Given the description of an element on the screen output the (x, y) to click on. 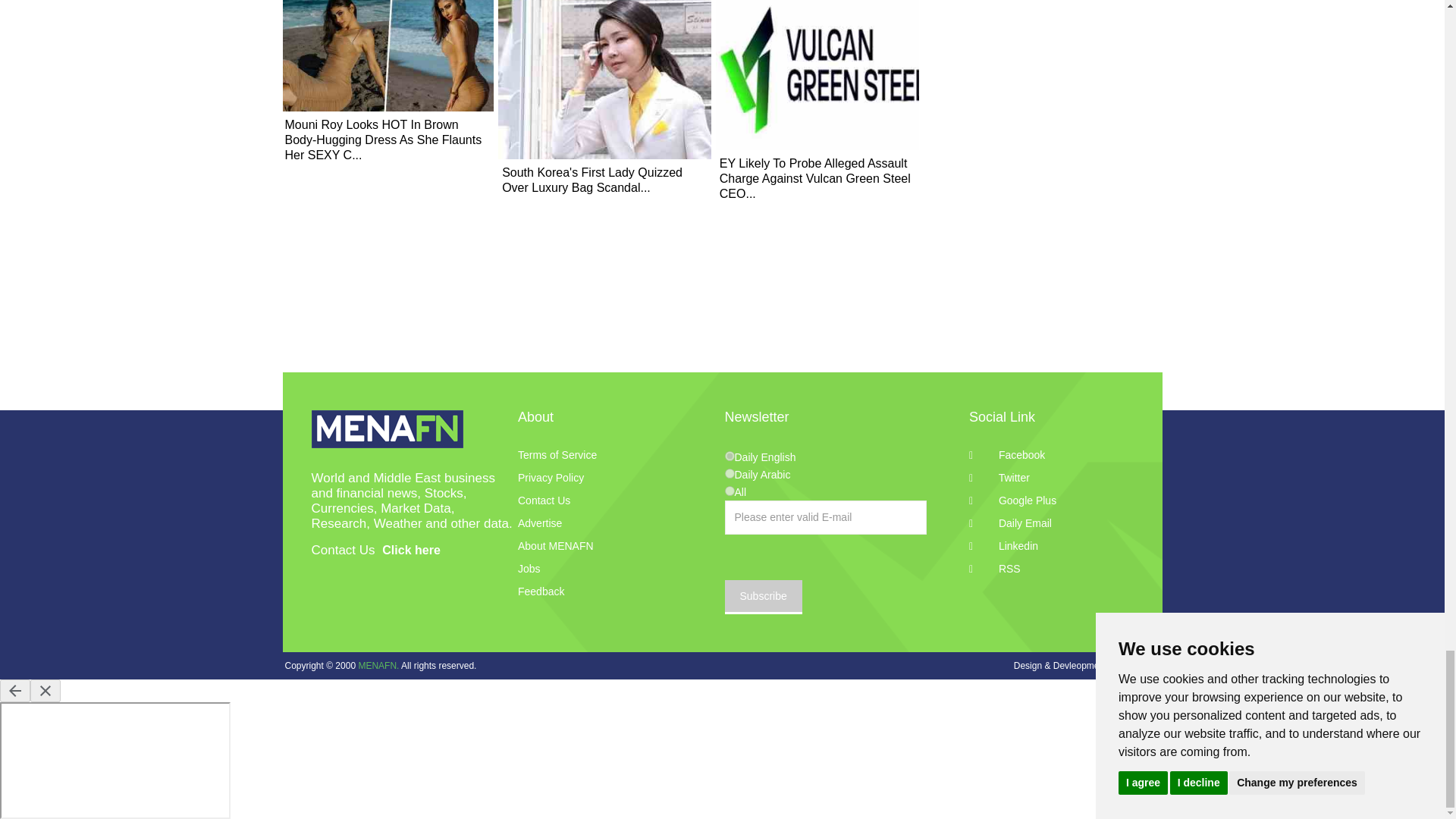
Subscribe (763, 596)
